Given the description of an element on the screen output the (x, y) to click on. 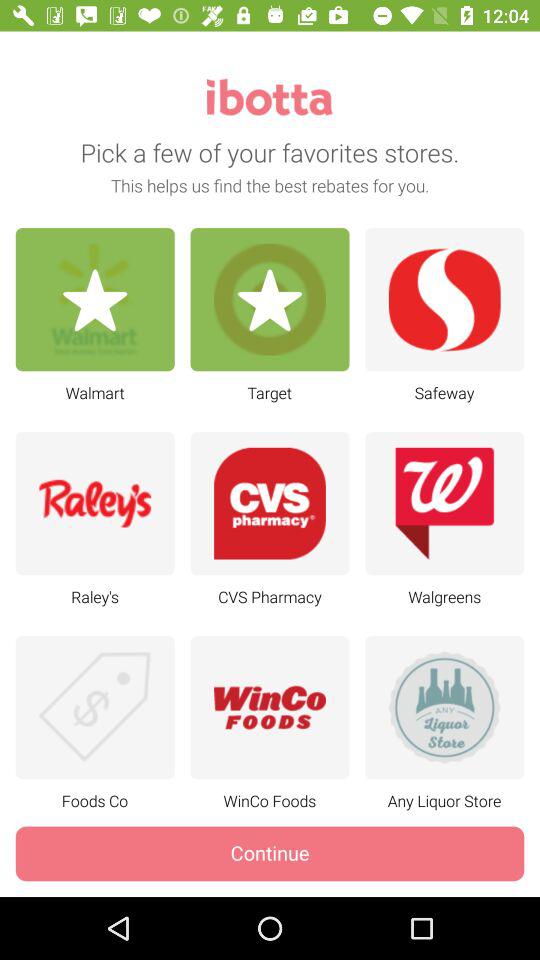
jump to the continue icon (269, 853)
